Given the description of an element on the screen output the (x, y) to click on. 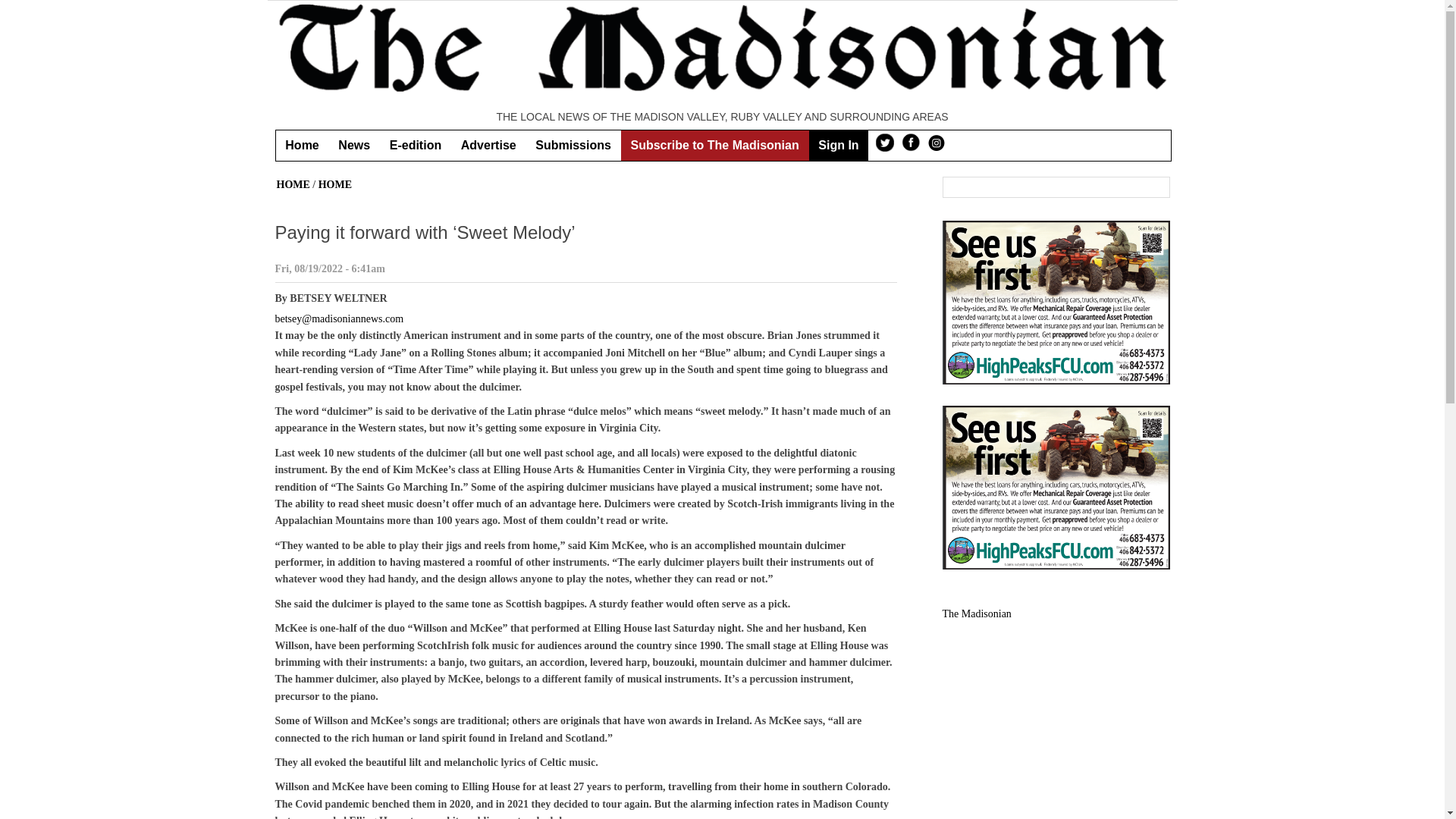
Home (302, 145)
HOME (335, 184)
Sign In (837, 145)
Search (1155, 188)
News (354, 145)
HOME (292, 184)
News (354, 145)
Subscribe to The Madisonian (715, 145)
Advertise (488, 145)
